Given the description of an element on the screen output the (x, y) to click on. 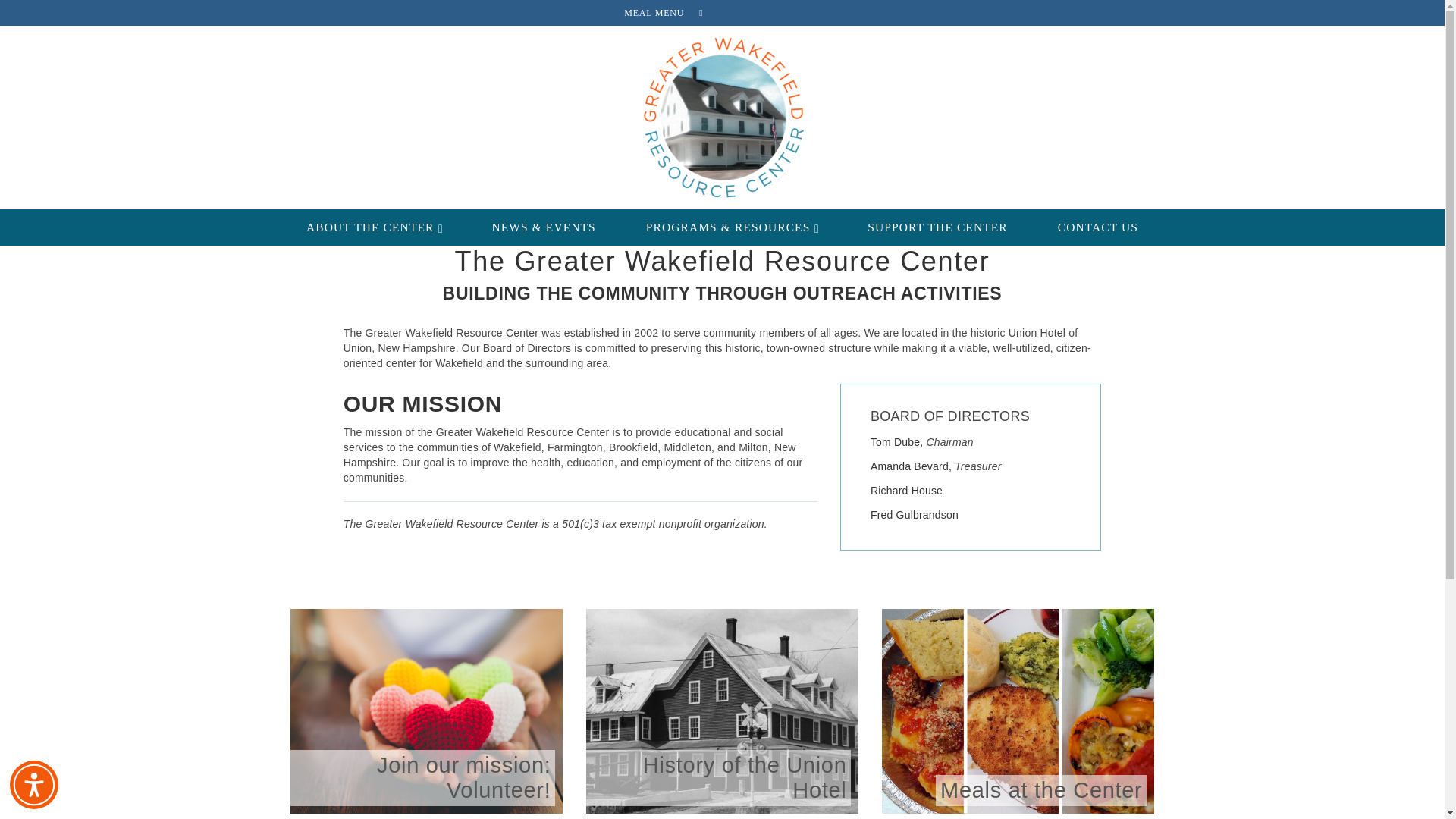
ABOUT THE CENTER (374, 227)
History of the Union Hotel (722, 711)
Join our mission: Volunteer! (425, 711)
Accessibility Menu (34, 784)
SUPPORT THE CENTER (937, 227)
CONTACT US (1097, 227)
Meals at the Center (1017, 711)
MEAL MENU (653, 12)
